Given the description of an element on the screen output the (x, y) to click on. 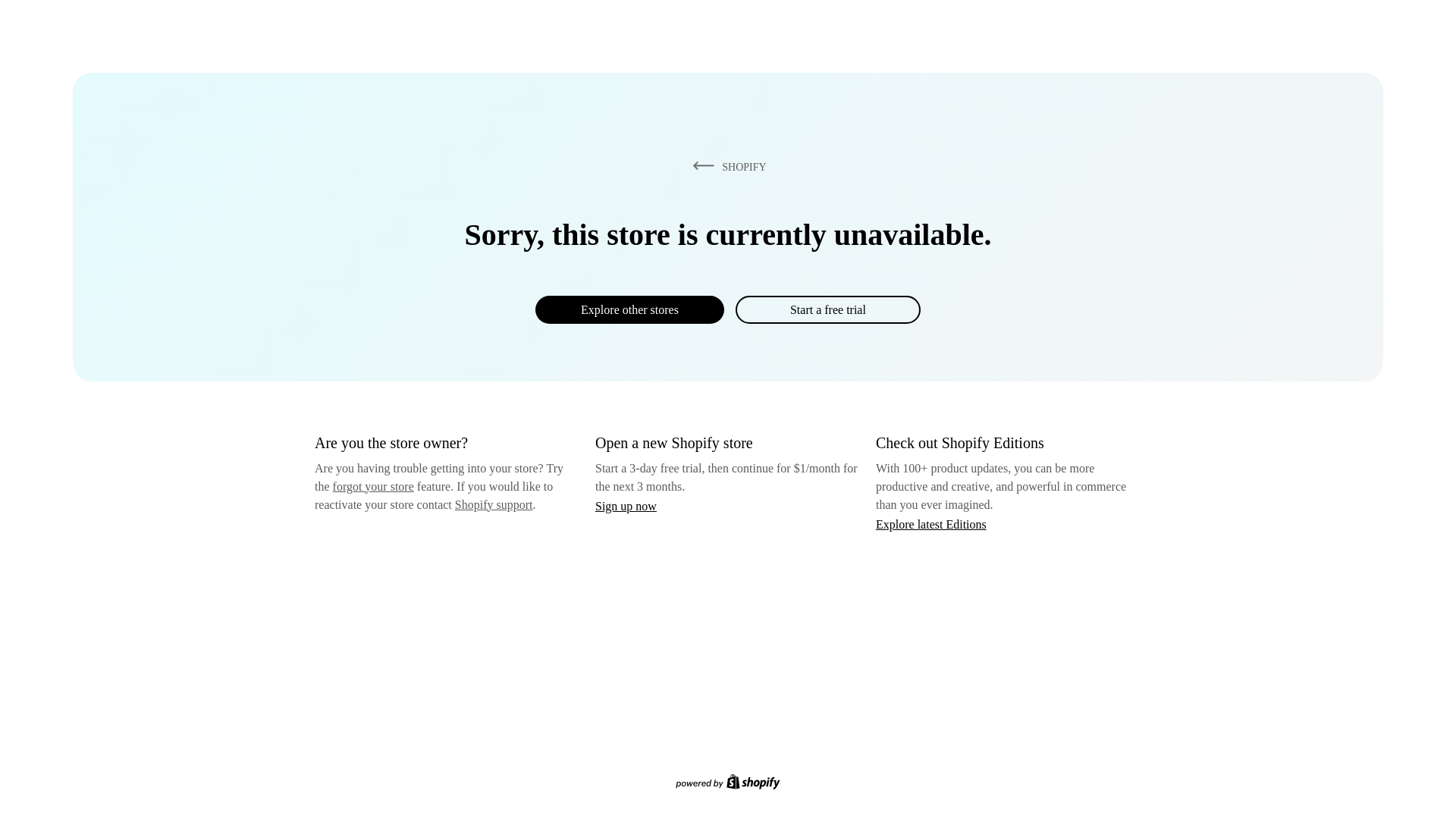
Explore other stores (629, 309)
Shopify support (493, 504)
SHOPIFY (726, 166)
Sign up now (625, 505)
Explore latest Editions (931, 523)
Start a free trial (827, 309)
forgot your store (373, 486)
